Given the description of an element on the screen output the (x, y) to click on. 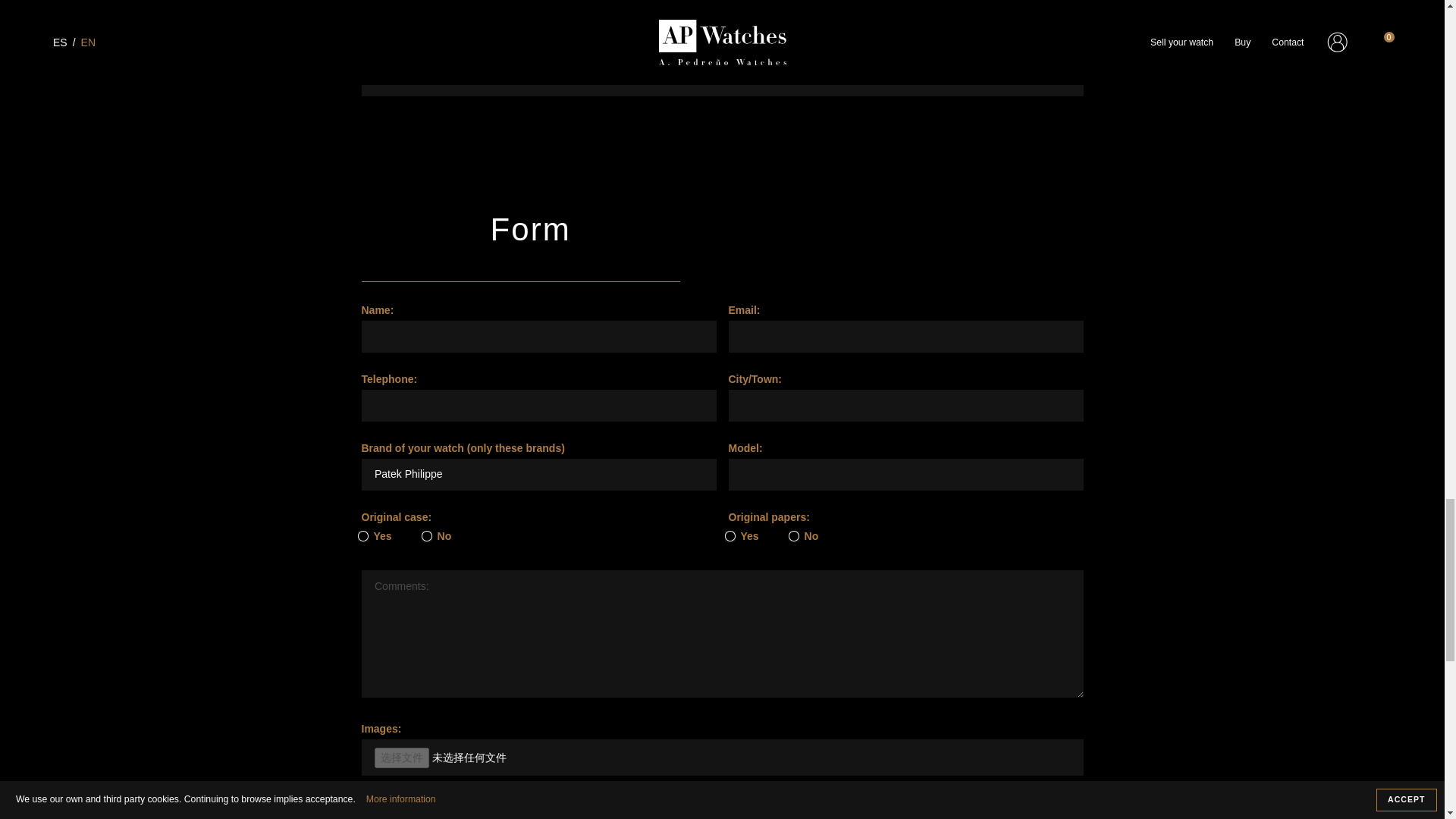
no (427, 535)
Patek Philippe (538, 474)
si (730, 535)
si (363, 535)
no (794, 535)
